Given the description of an element on the screen output the (x, y) to click on. 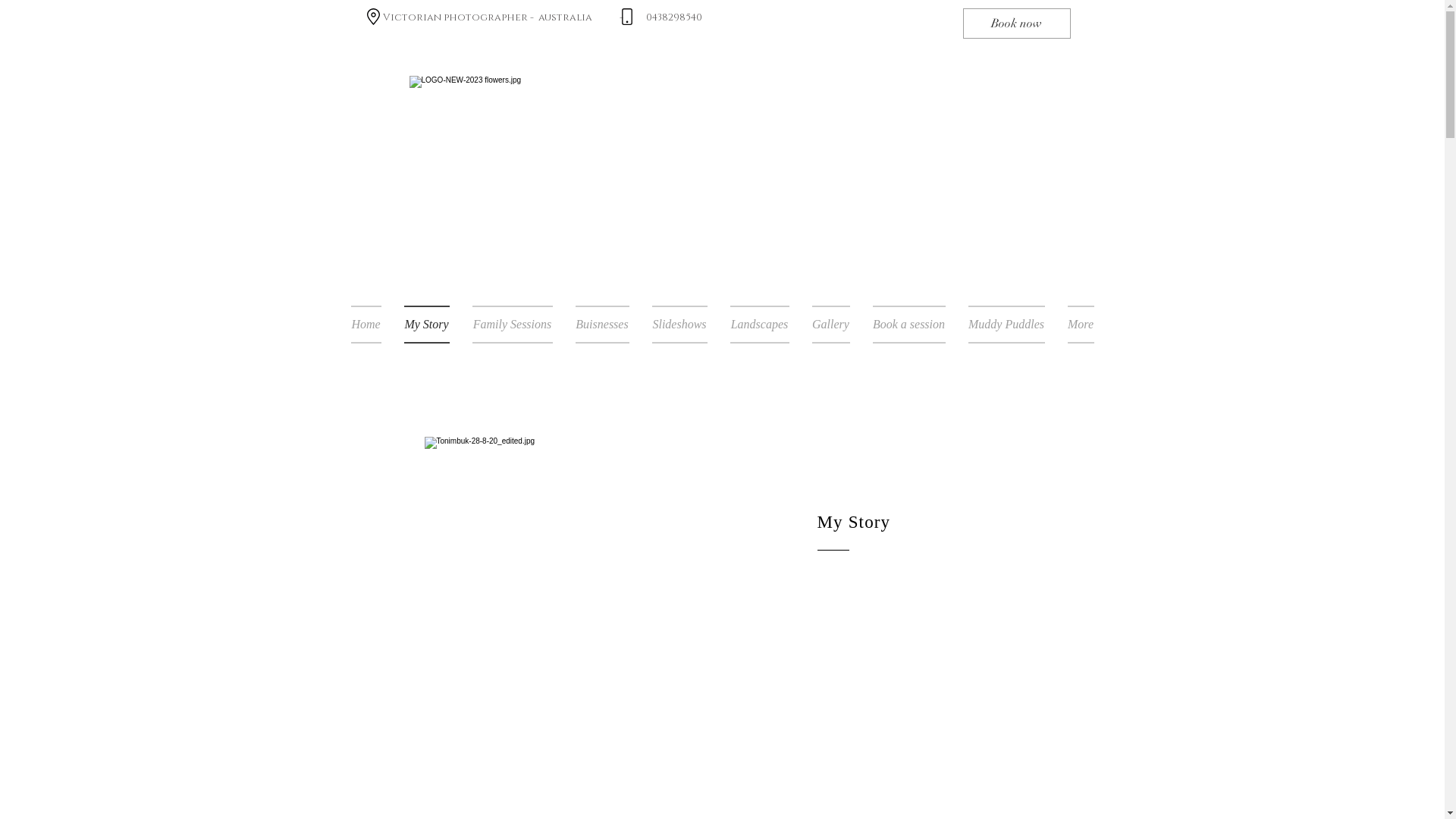
Home Element type: text (371, 324)
Muddy Puddles Element type: text (1006, 324)
My Story Element type: text (426, 324)
Landscapes Element type: text (759, 324)
Book a session Element type: text (909, 324)
Slideshows Element type: text (679, 324)
Book now Element type: text (1016, 23)
Gallery Element type: text (830, 324)
